Given the description of an element on the screen output the (x, y) to click on. 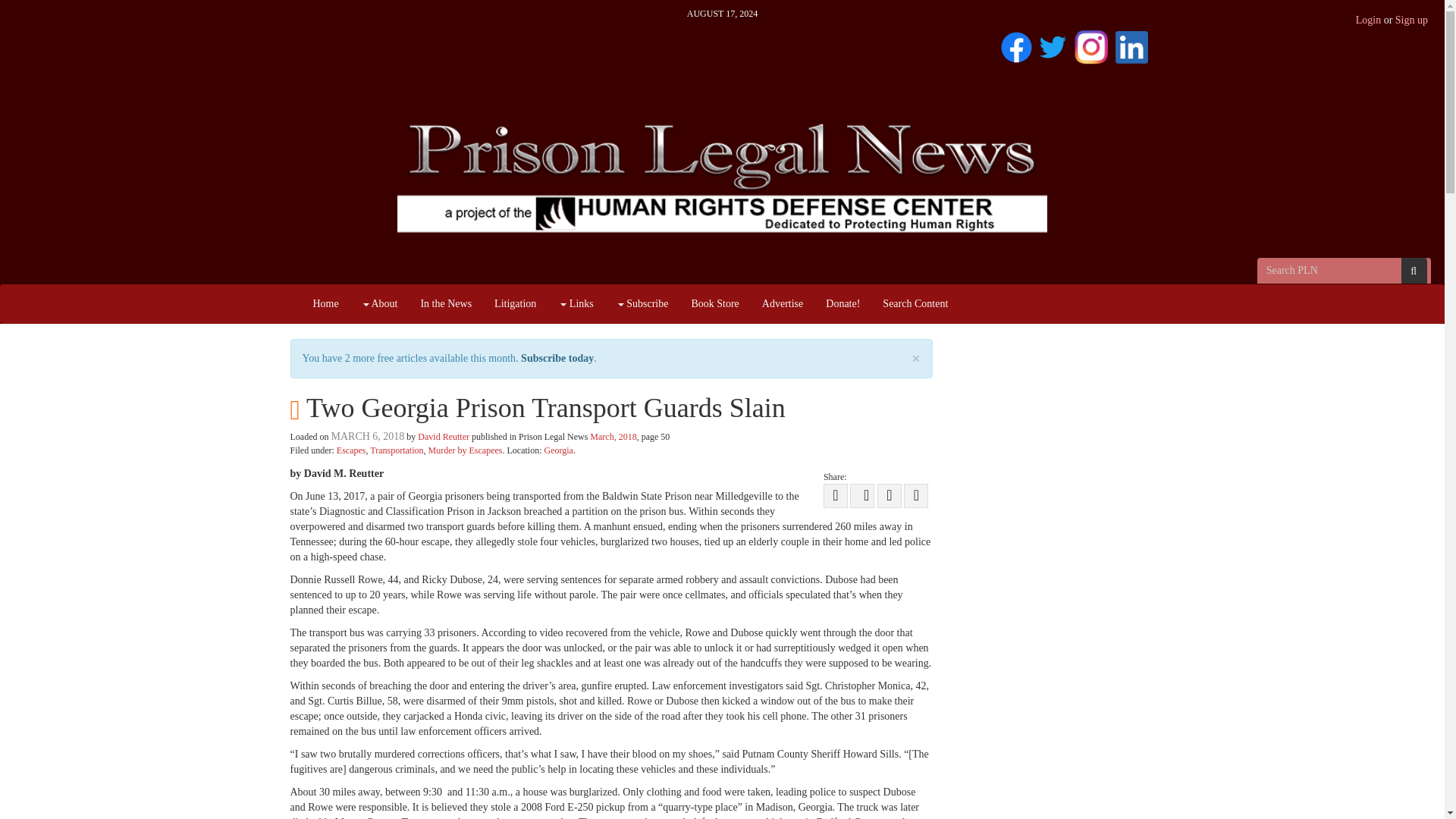
Home (325, 303)
About (379, 303)
Prison Legal News FaceBook Page (1016, 44)
David Reutter (442, 436)
In the News (446, 303)
Litigation (515, 303)
Paul Wright's LinkedIn Page (1131, 44)
HRDC Instagram Page (1091, 44)
Links (575, 303)
Search (1413, 270)
